Given the description of an element on the screen output the (x, y) to click on. 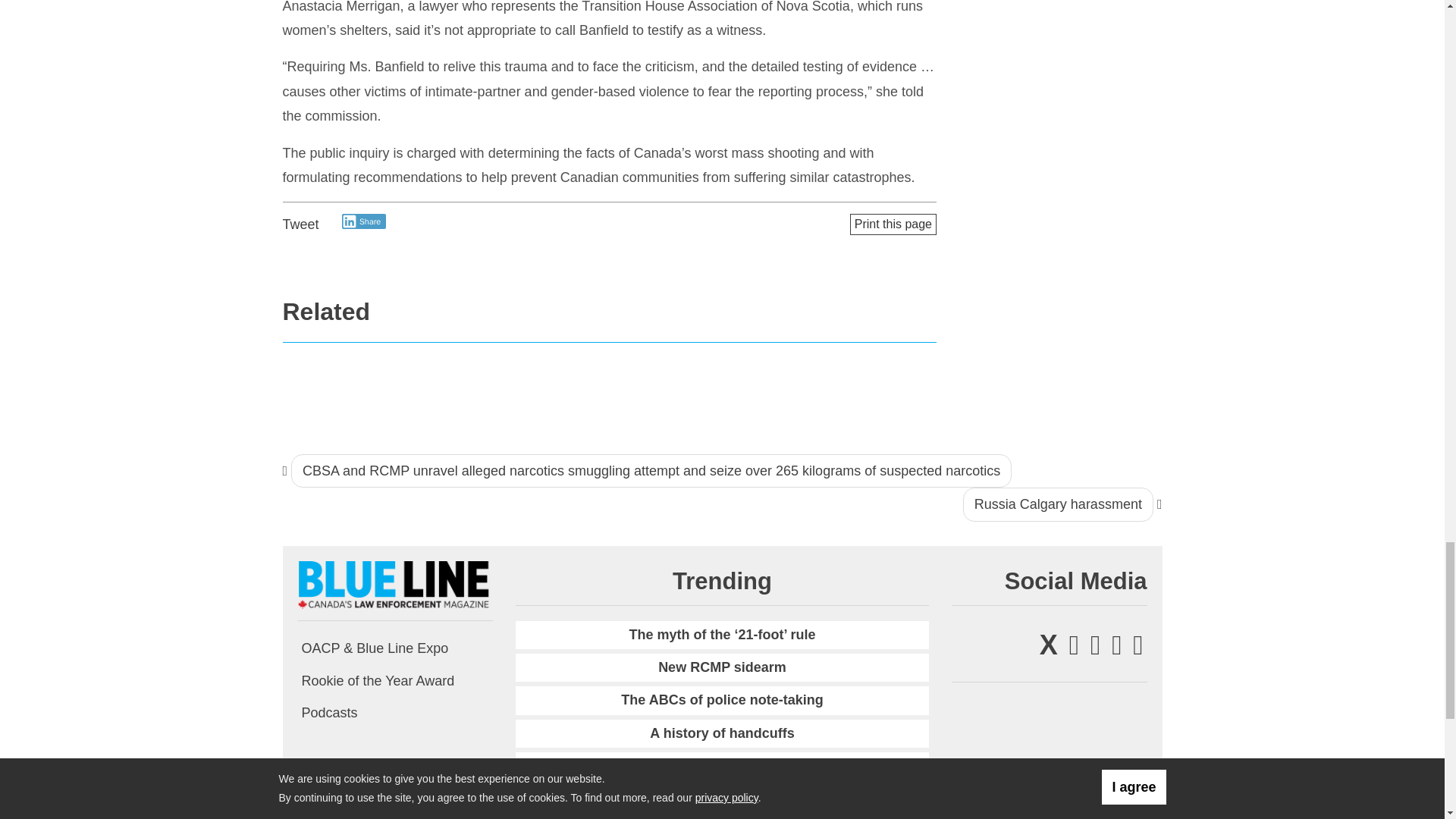
Blue Line (395, 583)
